Given the description of an element on the screen output the (x, y) to click on. 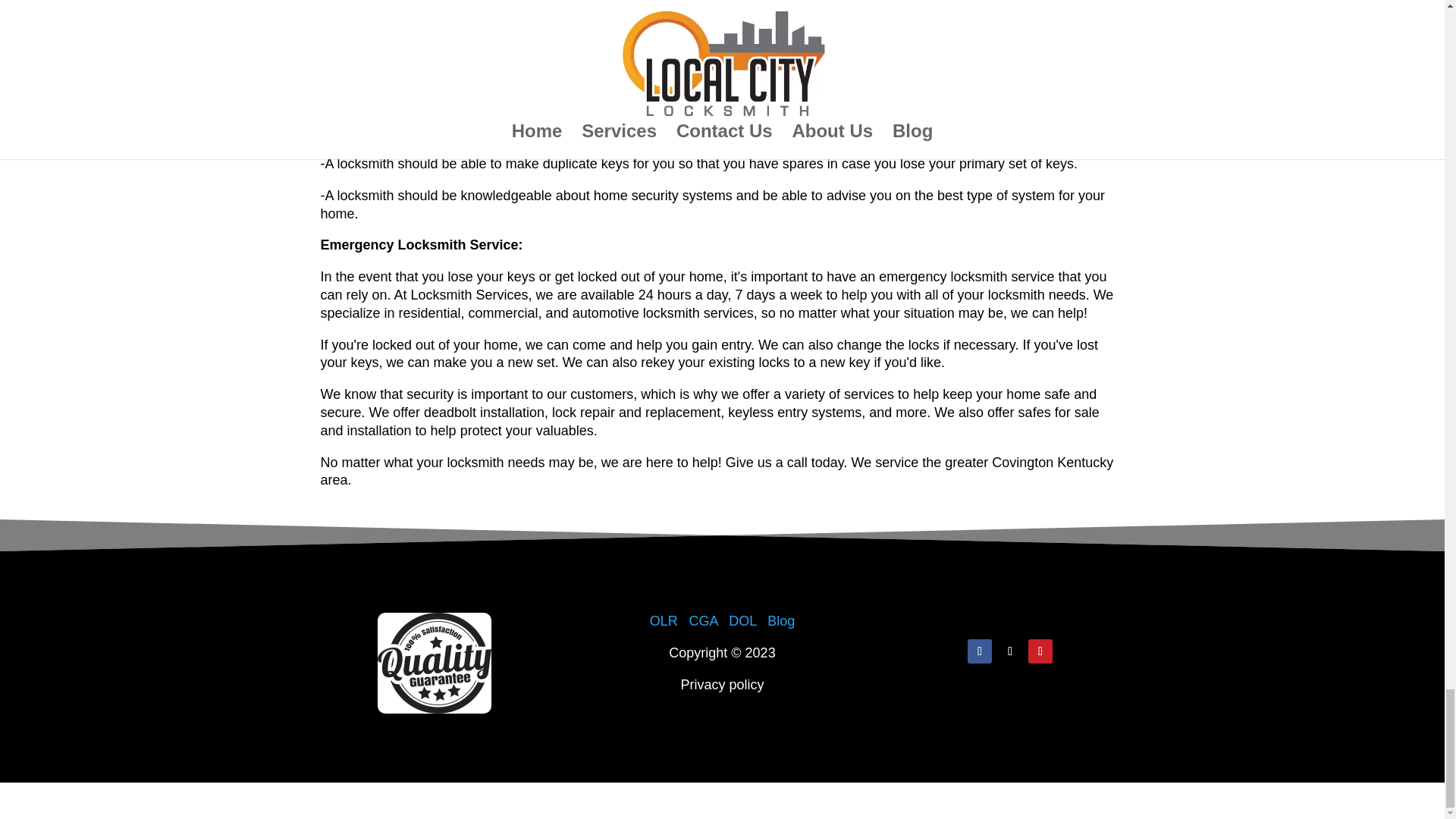
Privacy policy (720, 684)
24-7-locksmith (434, 662)
Blog (780, 620)
OLR (663, 620)
DOL (744, 620)
CGA (702, 620)
Follow on X (1009, 651)
Follow on Facebook (979, 651)
Follow on Pinterest (1039, 651)
